Given the description of an element on the screen output the (x, y) to click on. 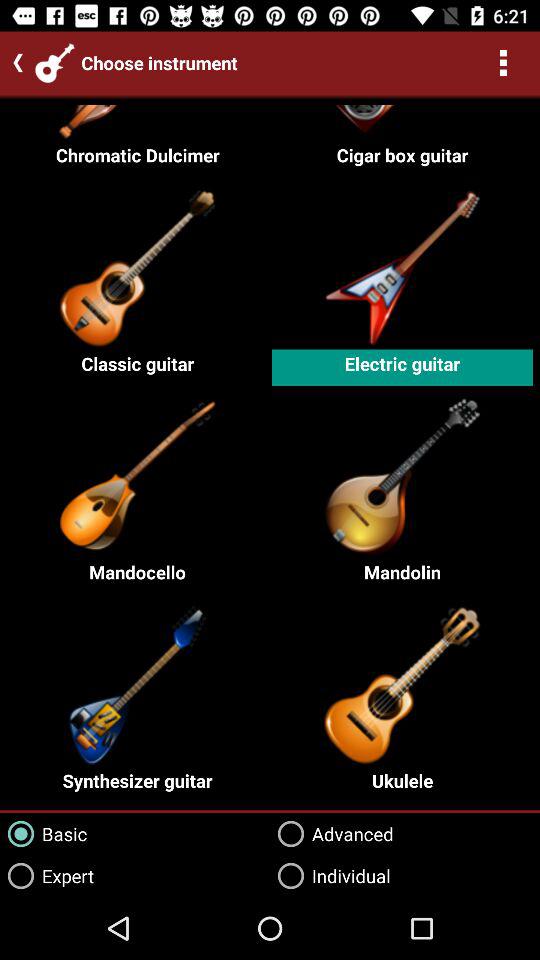
click icon below advanced (330, 875)
